Given the description of an element on the screen output the (x, y) to click on. 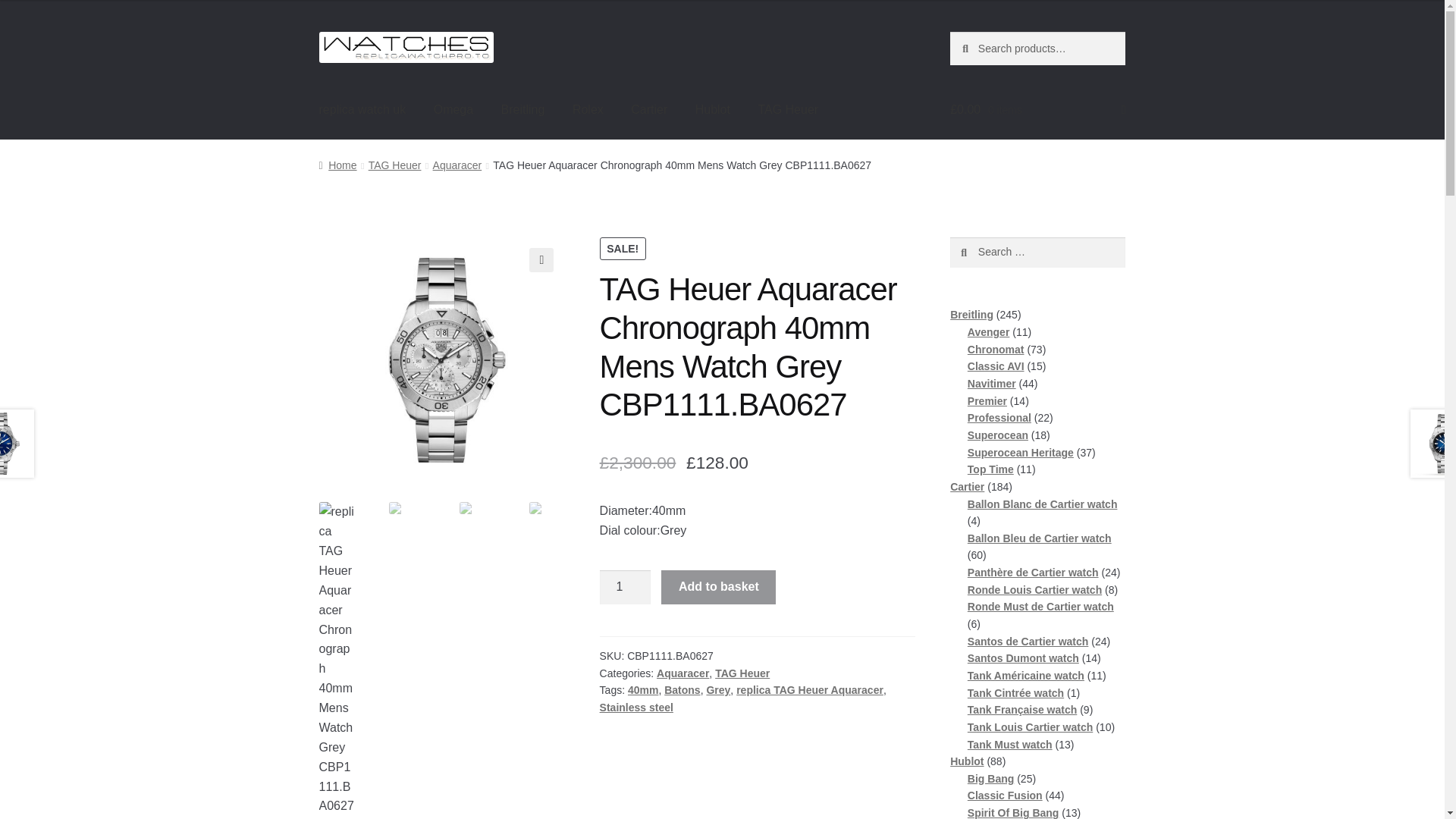
40mm (642, 689)
Breitling (523, 109)
Rolex (587, 109)
Aquaracer (456, 164)
Add to basket (718, 587)
replica watch uk (363, 109)
